Given the description of an element on the screen output the (x, y) to click on. 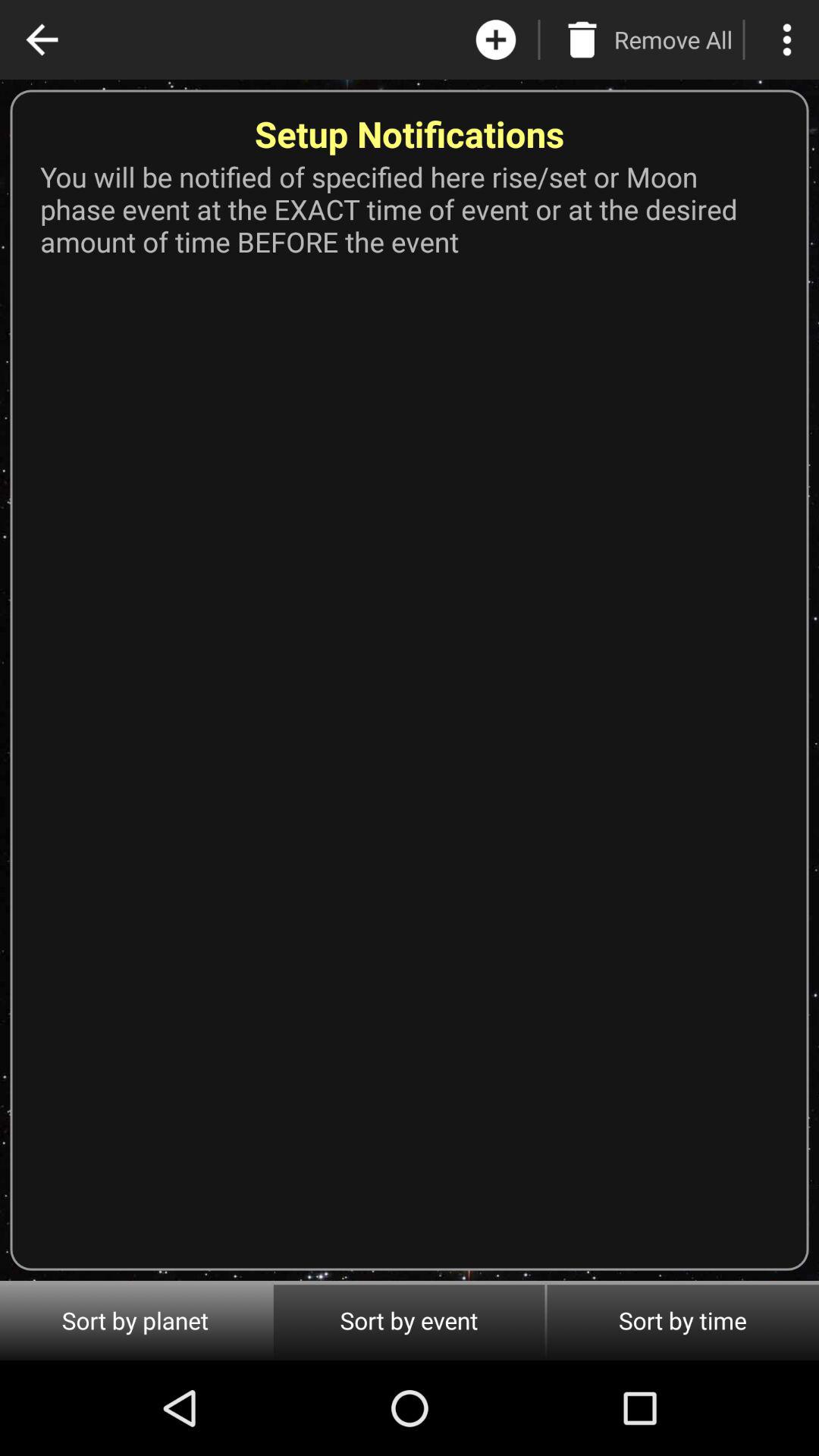
add an event (495, 39)
